Given the description of an element on the screen output the (x, y) to click on. 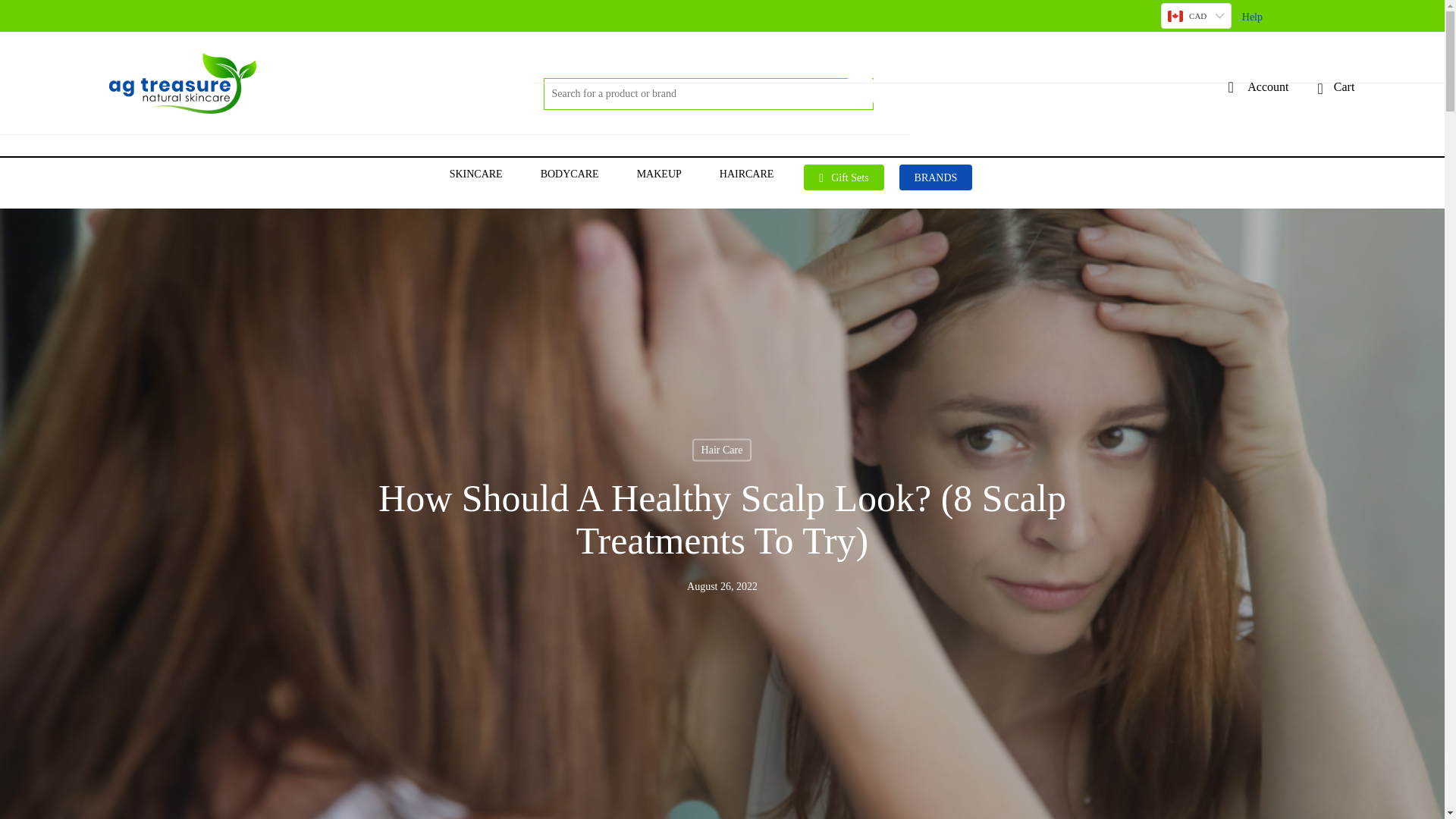
Help (1251, 16)
HAIRCARE (750, 174)
account (1230, 86)
MAKEUP (662, 174)
BODYCARE (573, 174)
Gift Sets (843, 178)
SKINCARE (480, 174)
